Given the description of an element on the screen output the (x, y) to click on. 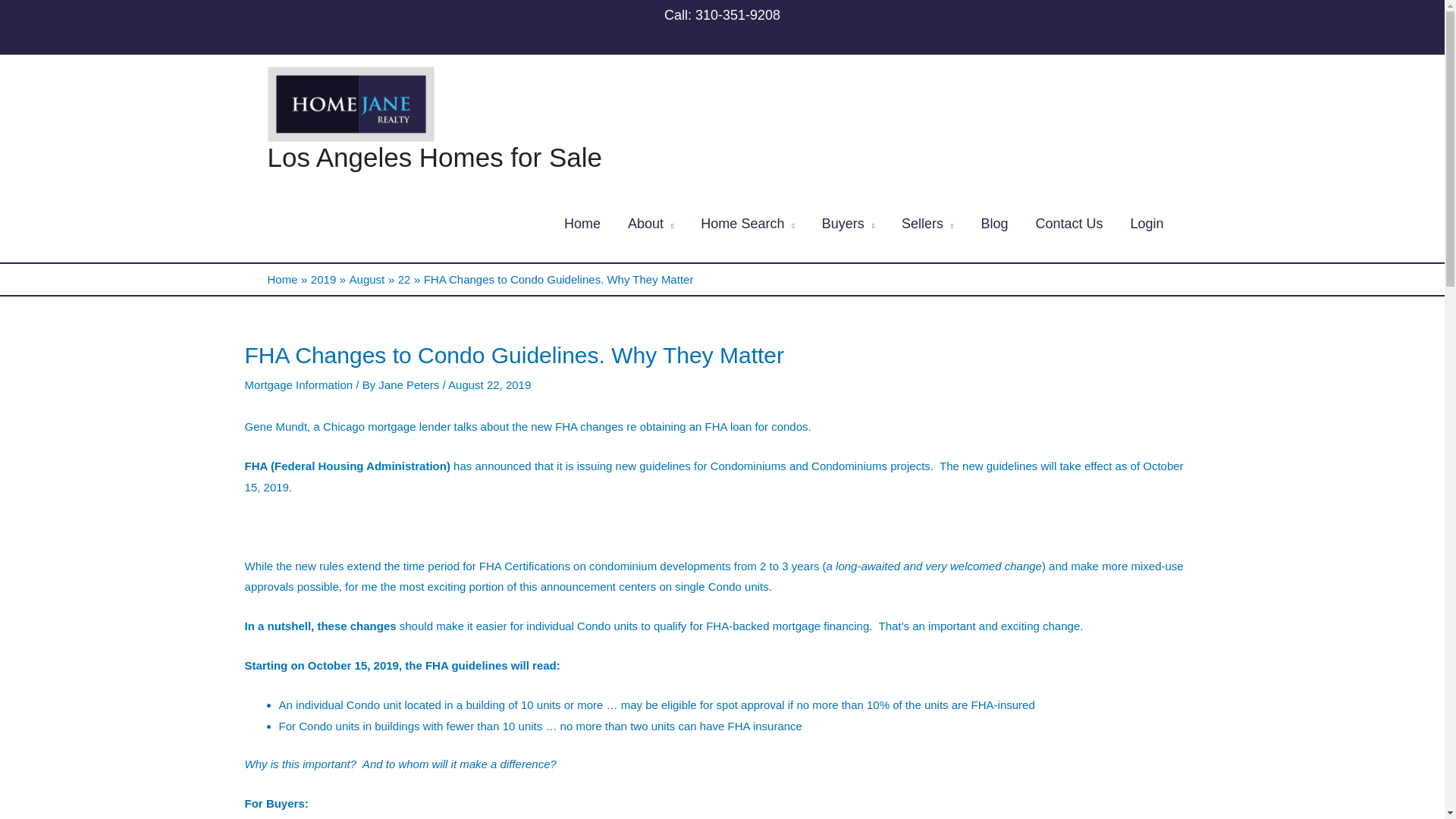
Buyers (848, 223)
Home Search (747, 223)
Sellers (927, 223)
View all posts by Jane Peters (410, 384)
Los Angeles Homes for Sale (433, 156)
About (650, 223)
Contact Us (1069, 223)
